Given the description of an element on the screen output the (x, y) to click on. 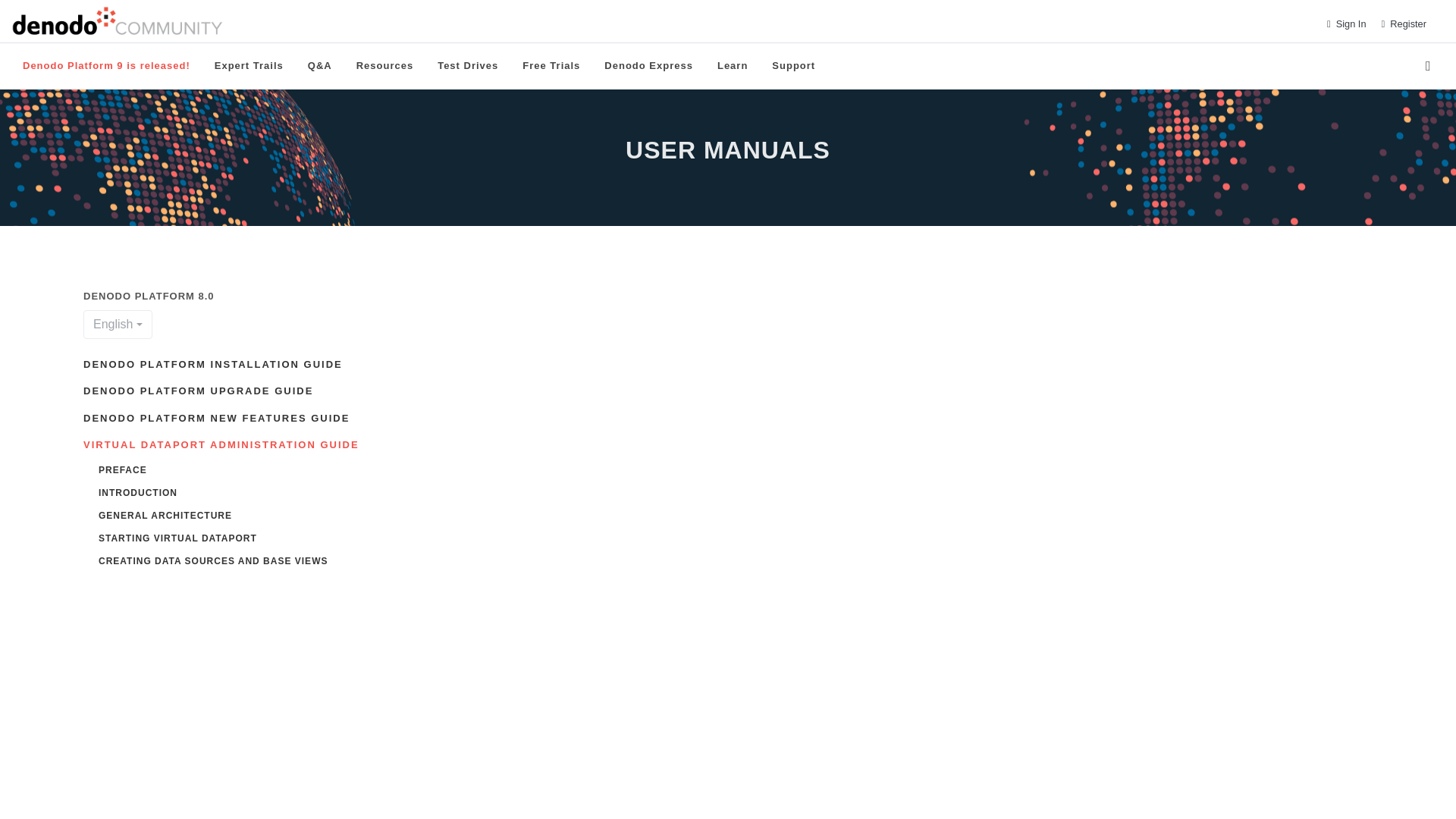
Test Drives (467, 65)
SKIP TO MAIN CONTENT (1253, 23)
Sign In (1351, 23)
Free Trials (551, 65)
Register (1408, 23)
Resources (385, 65)
Denodo Platform 9 is released! (106, 65)
Learn (732, 65)
Denodo Express (648, 65)
Skip to Main Content (1253, 23)
Search (1430, 65)
Expert Trails (249, 65)
